Given the description of an element on the screen output the (x, y) to click on. 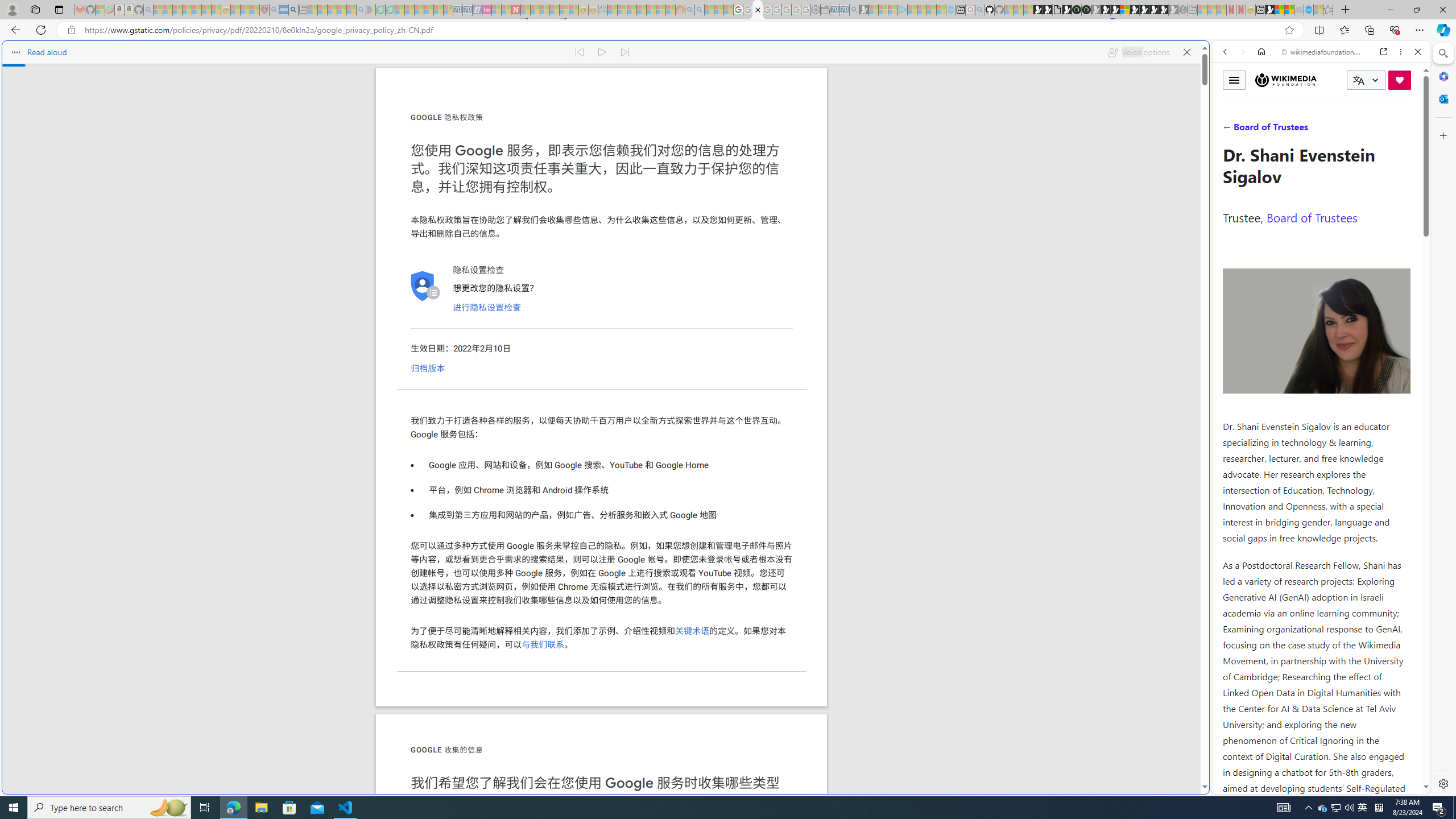
CURRENT LANGUAGE: (1366, 80)
Search (1442, 53)
Close (1417, 51)
Global web icon (1232, 786)
World - MSN (1279, 9)
Cheap Hotels - Save70.com - Sleeping (467, 9)
Microsoft Start - Sleeping (930, 9)
Play Cave FRVR in your browser | Games from Microsoft Start (1105, 9)
Tabs you've opened (885, 151)
google_privacy_policy_zh-CN.pdf (1118, 683)
Latest Politics News & Archive | Newsweek.com - Sleeping (515, 9)
Settings and more (Alt+F) (1419, 29)
Close read aloud (1186, 52)
